Given the description of an element on the screen output the (x, y) to click on. 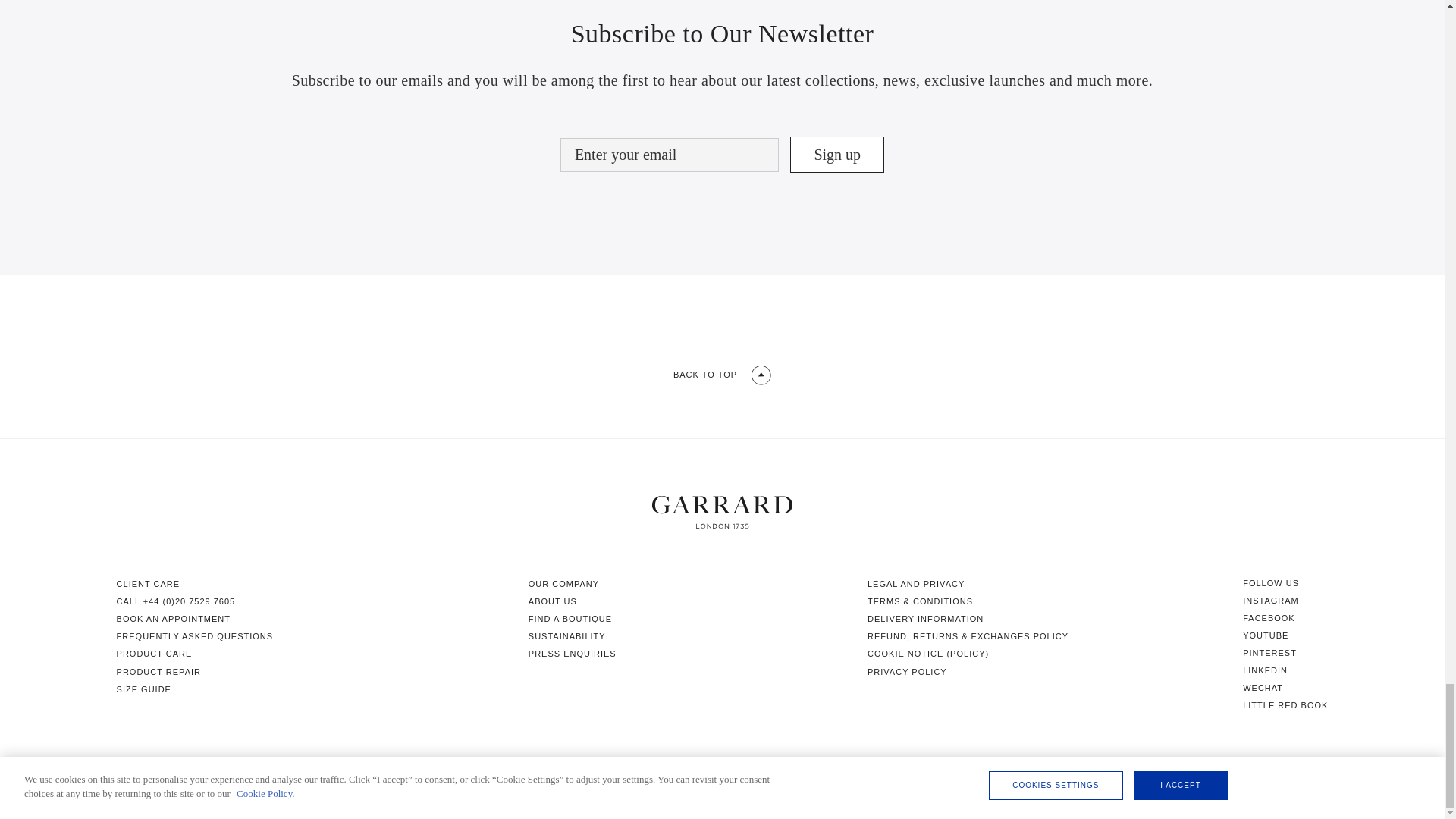
Sign up (836, 154)
